Given the description of an element on the screen output the (x, y) to click on. 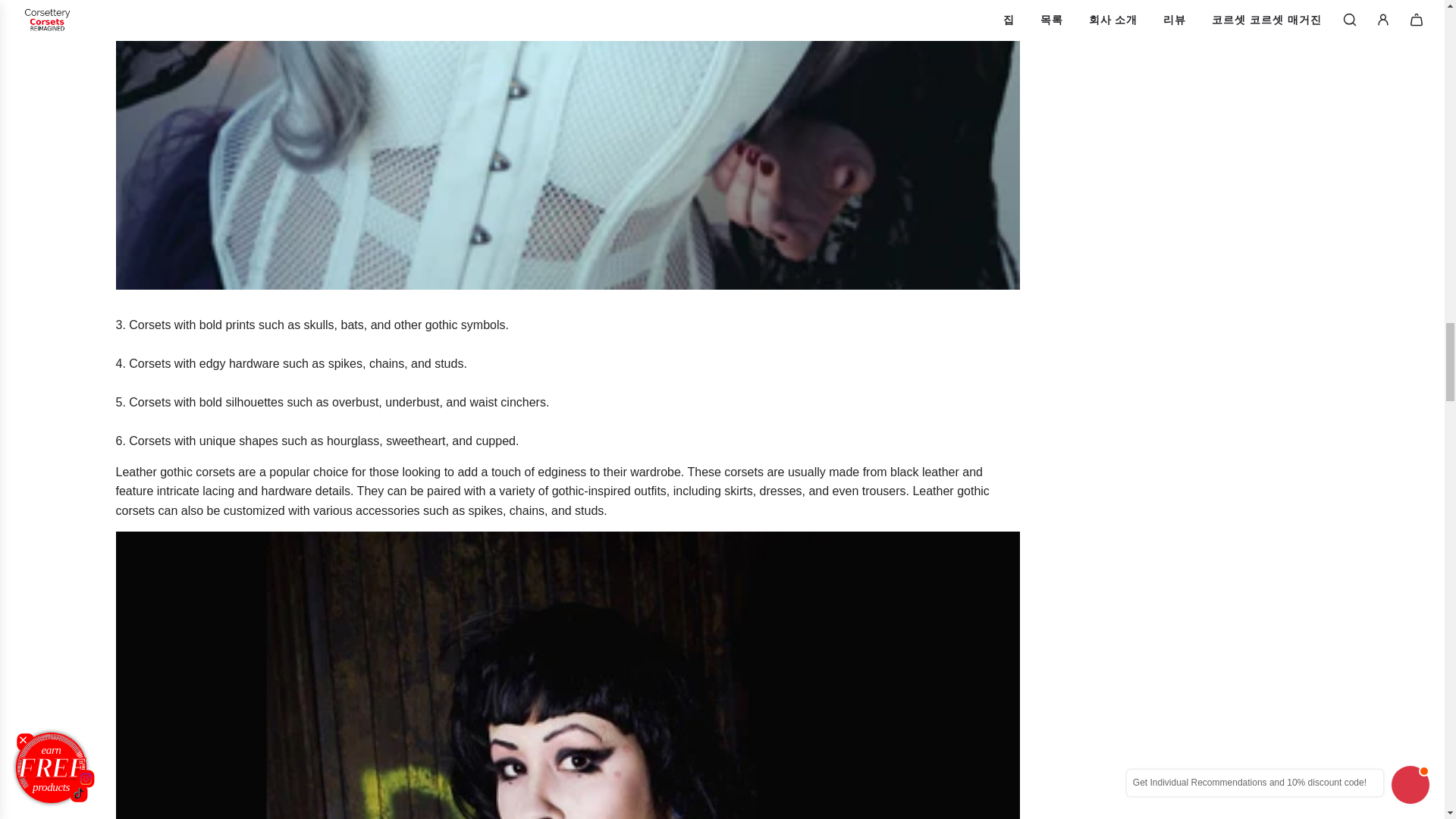
gothic corsets (151, 440)
leather gothic corsets (174, 472)
